Given the description of an element on the screen output the (x, y) to click on. 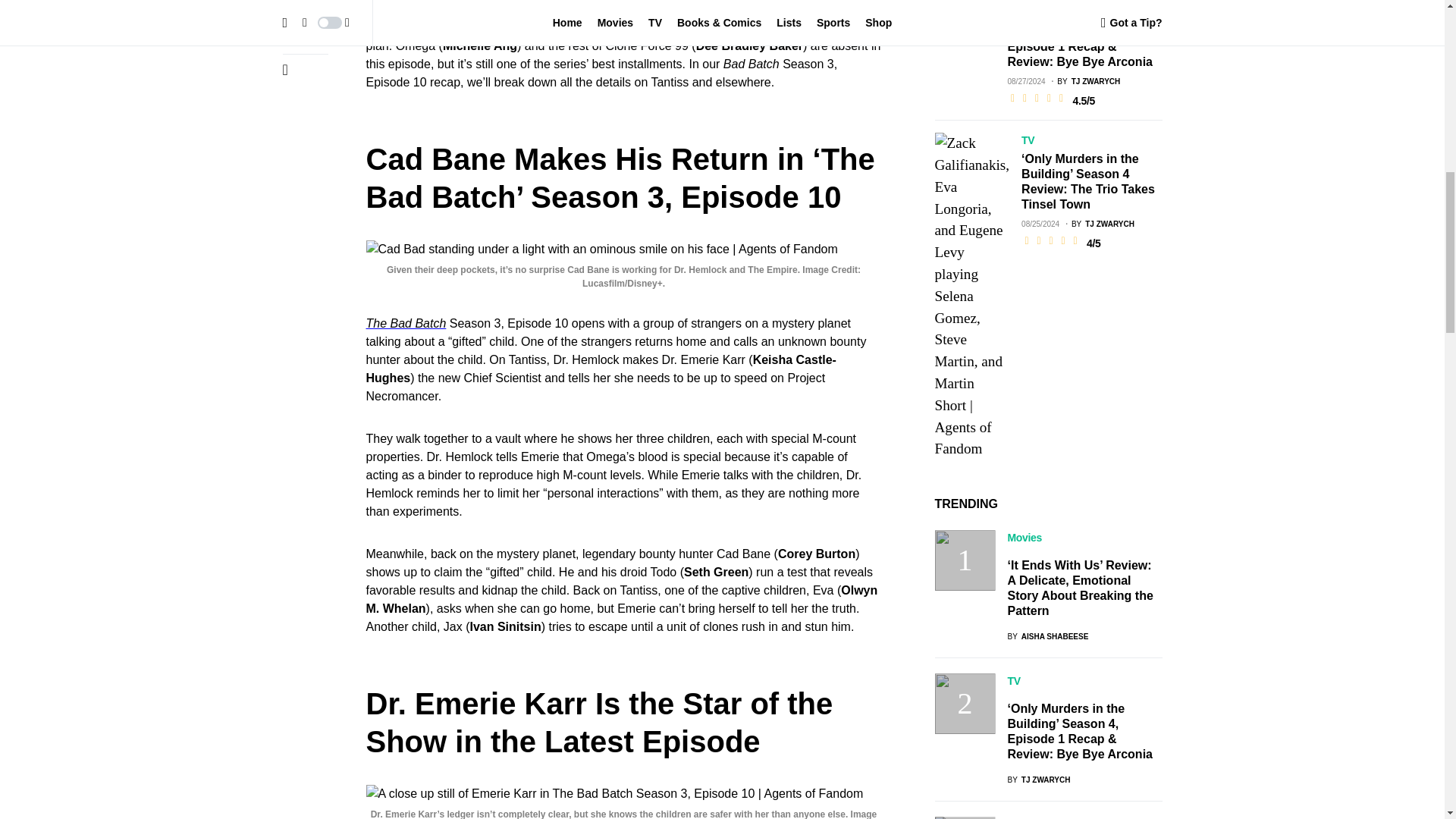
View all posts by TJ Zwarych (1088, 81)
View all posts by TJ Zwarych (1038, 779)
View all posts by Aisha Shabeese (1047, 636)
View all posts by TJ Zwarych (1102, 224)
